Given the description of an element on the screen output the (x, y) to click on. 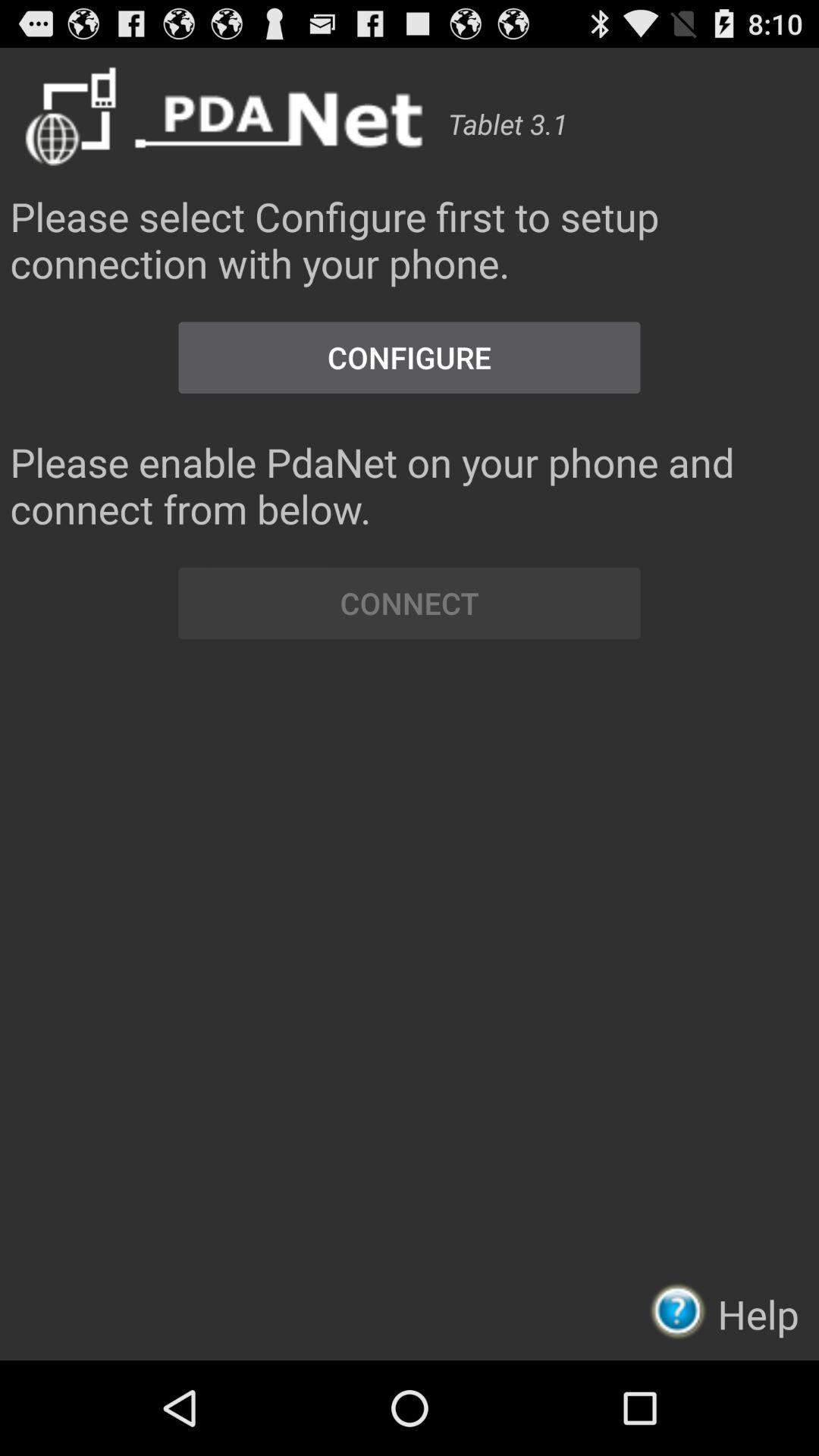
choose item next to help icon (682, 1310)
